Given the description of an element on the screen output the (x, y) to click on. 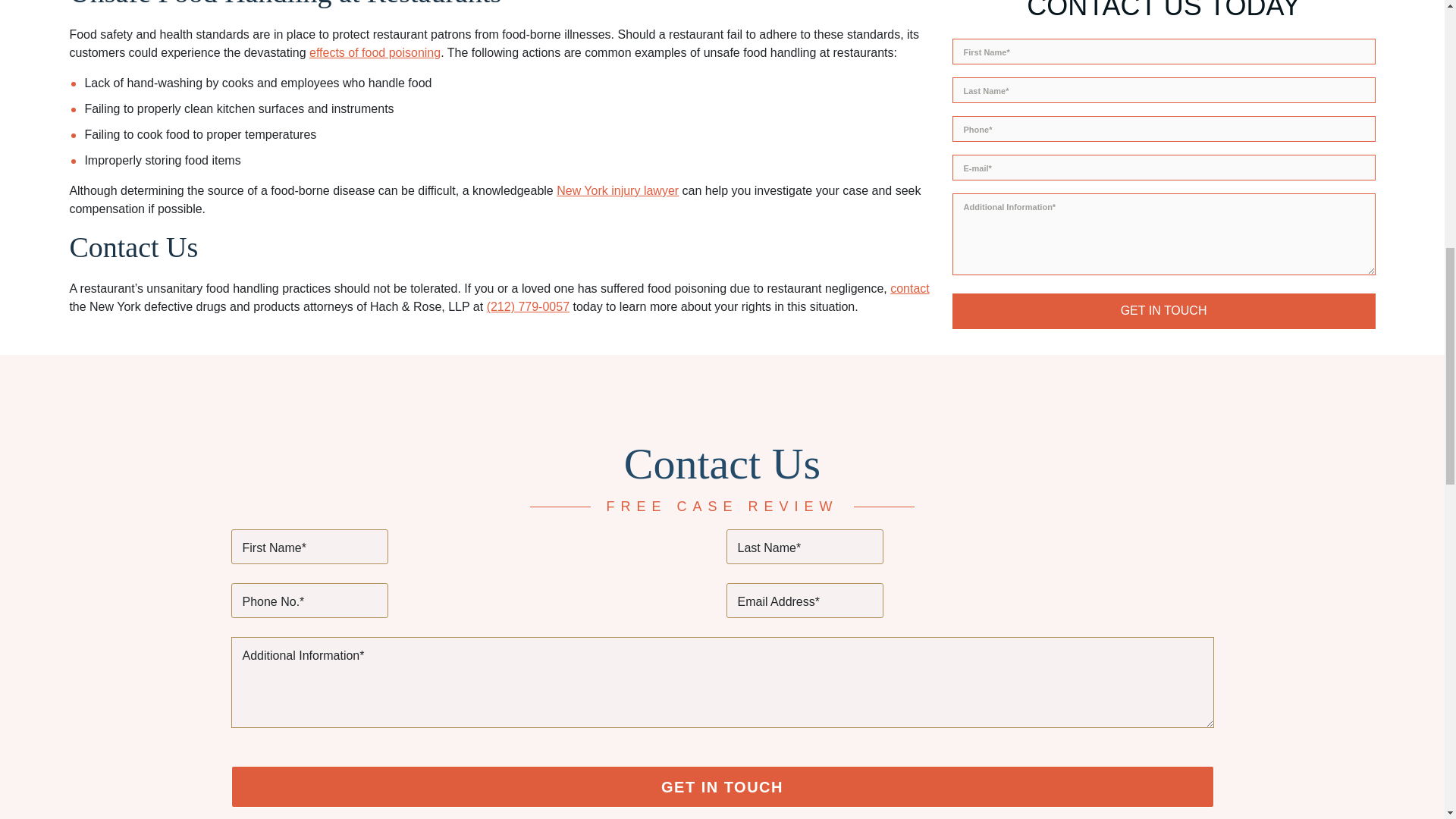
Get in touch (1163, 99)
New York Injury Attorney (617, 190)
Get in touch (721, 786)
